Given the description of an element on the screen output the (x, y) to click on. 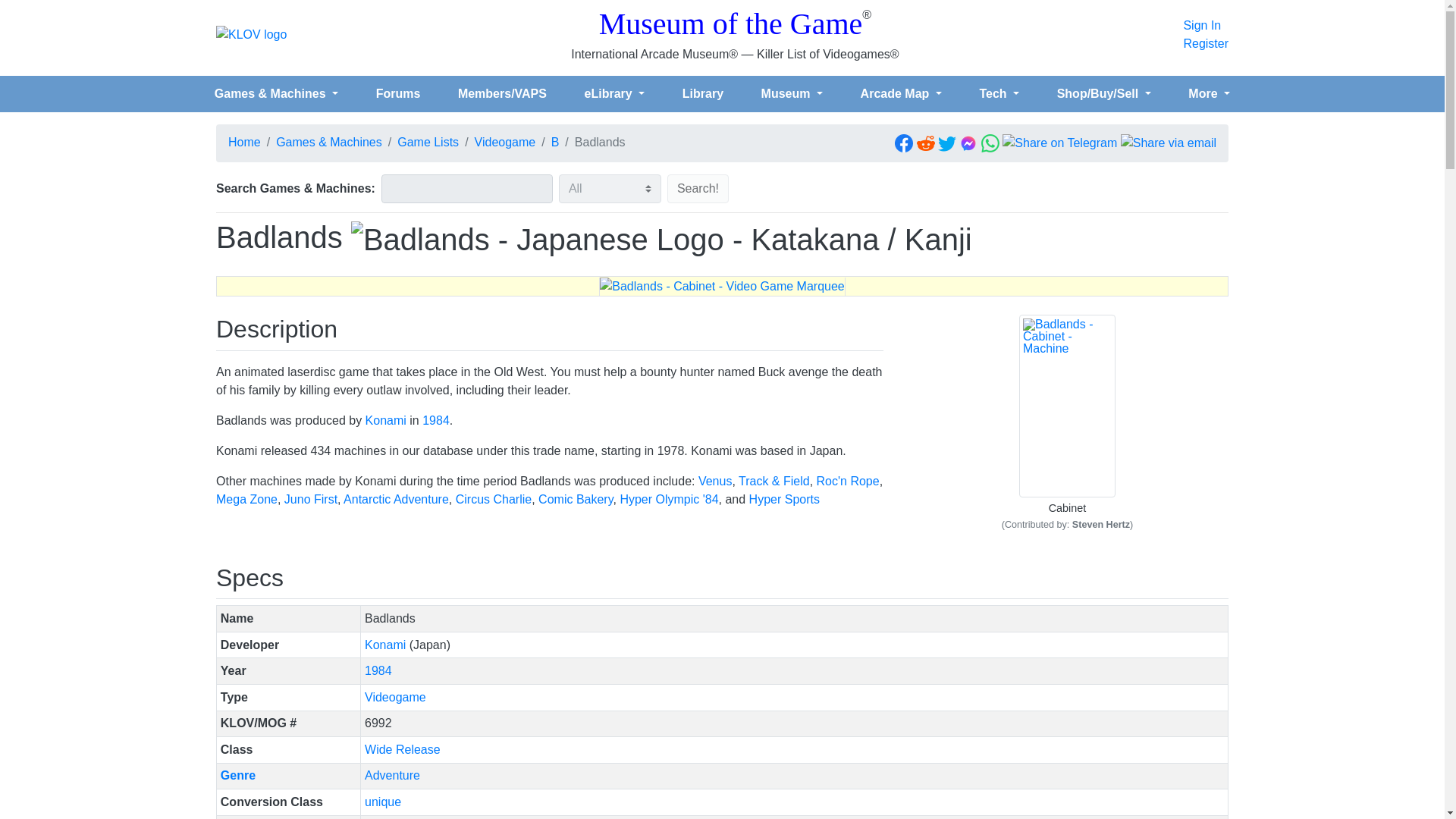
Forums (397, 93)
eLibrary (614, 93)
Register (1205, 44)
Sign In (1205, 25)
